Given the description of an element on the screen output the (x, y) to click on. 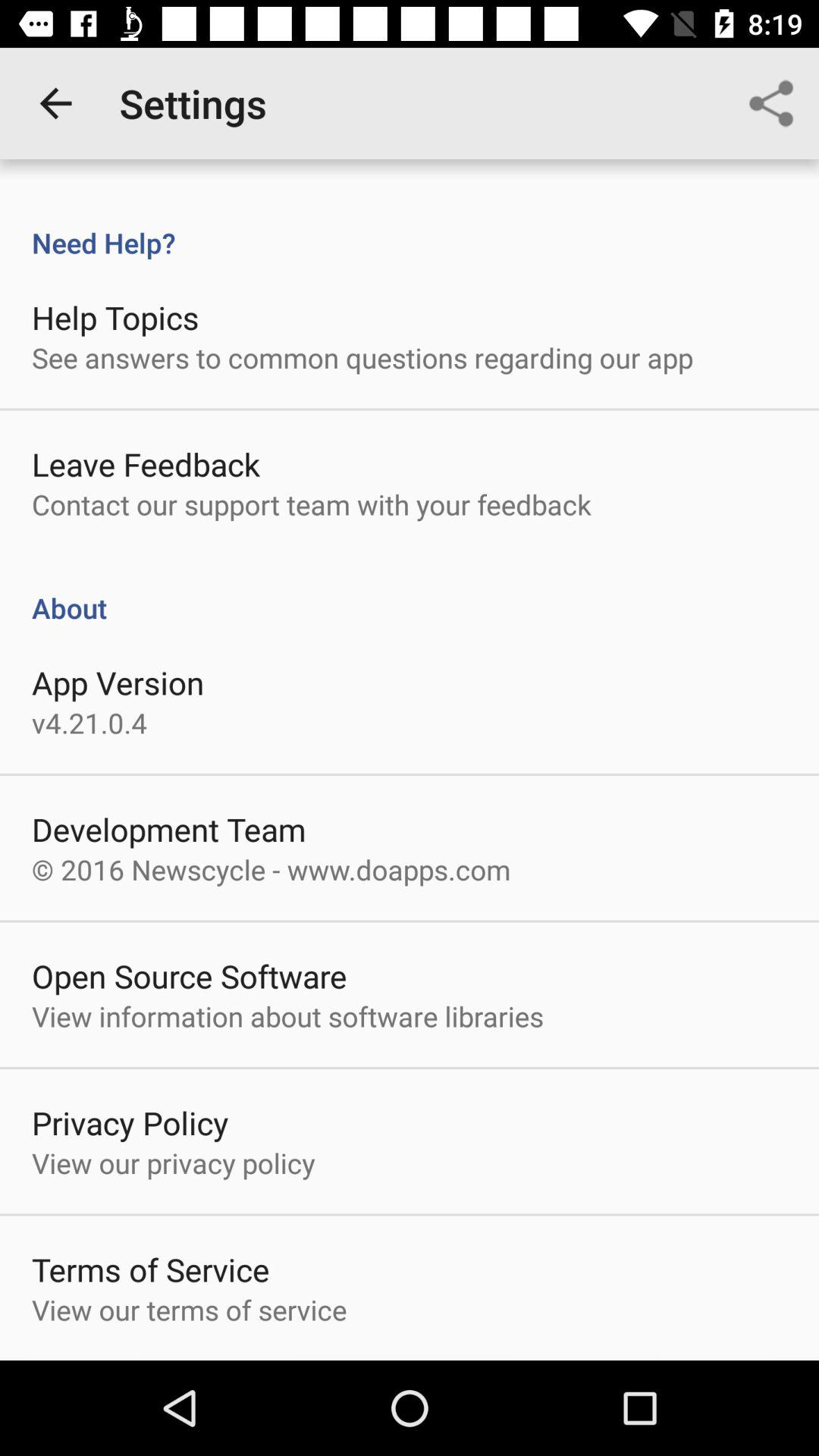
turn on 2016 newscycle www icon (270, 869)
